Given the description of an element on the screen output the (x, y) to click on. 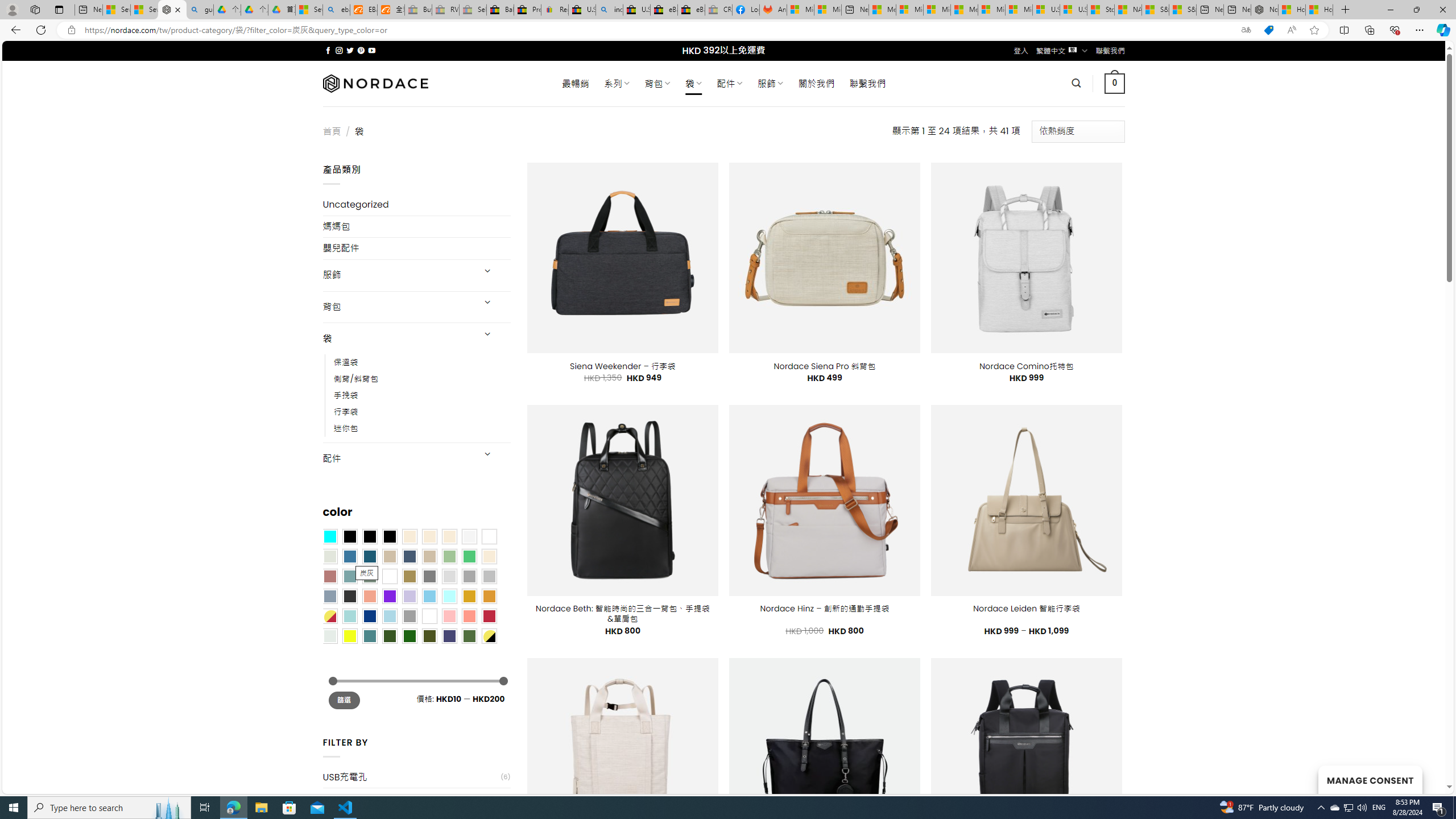
Press Room - eBay Inc. (527, 9)
Sell worldwide with eBay - Sleeping (473, 9)
Uncategorized (416, 204)
S&P 500, Nasdaq end lower, weighed by Nvidia dip | Watch (1182, 9)
